Given the description of an element on the screen output the (x, y) to click on. 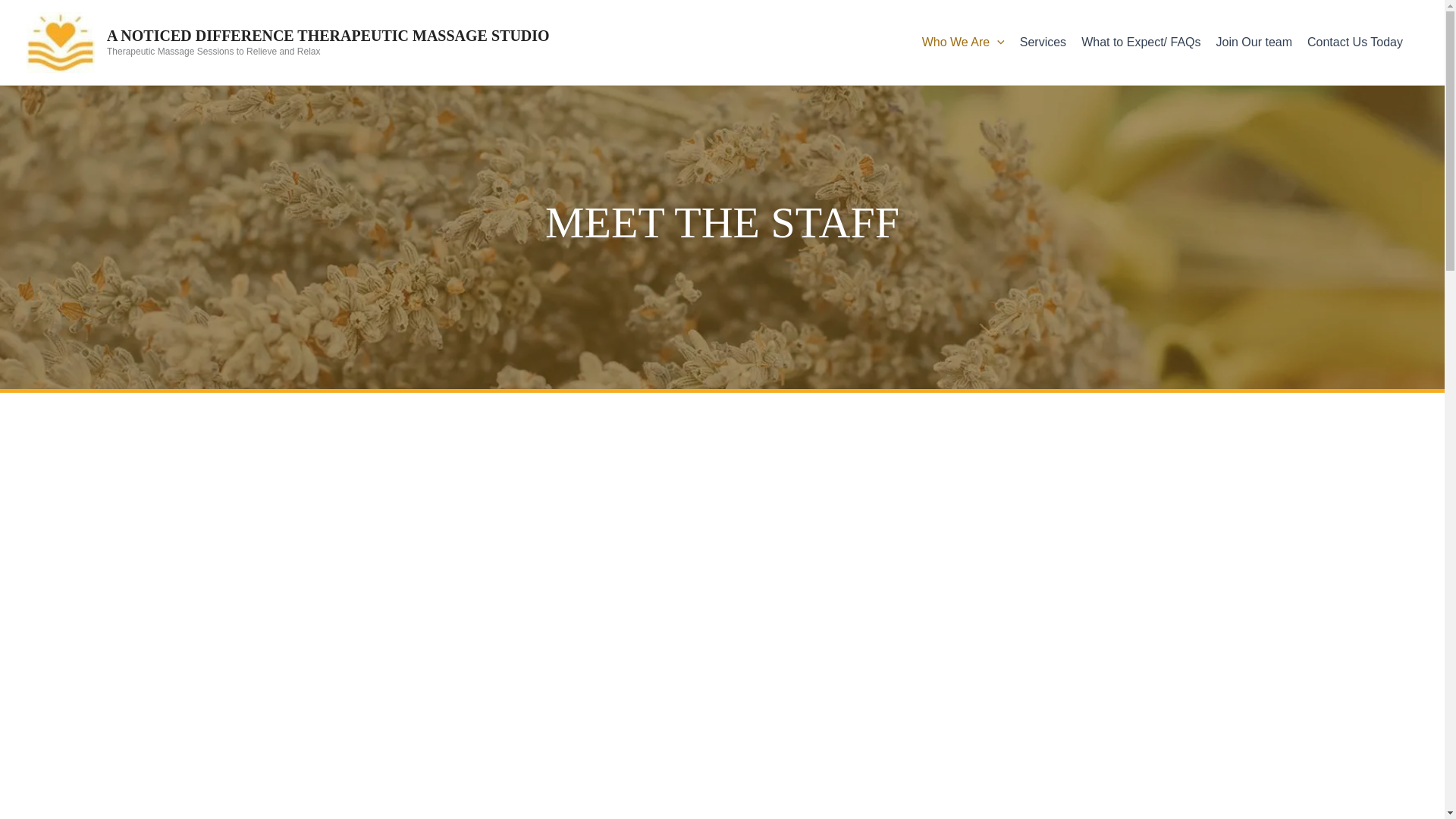
Who We Are (970, 42)
Join Our team (1261, 42)
Services (1050, 42)
A NOTICED DIFFERENCE THERAPEUTIC MASSAGE STUDIO (328, 35)
Contact Us Today (1362, 42)
